Given the description of an element on the screen output the (x, y) to click on. 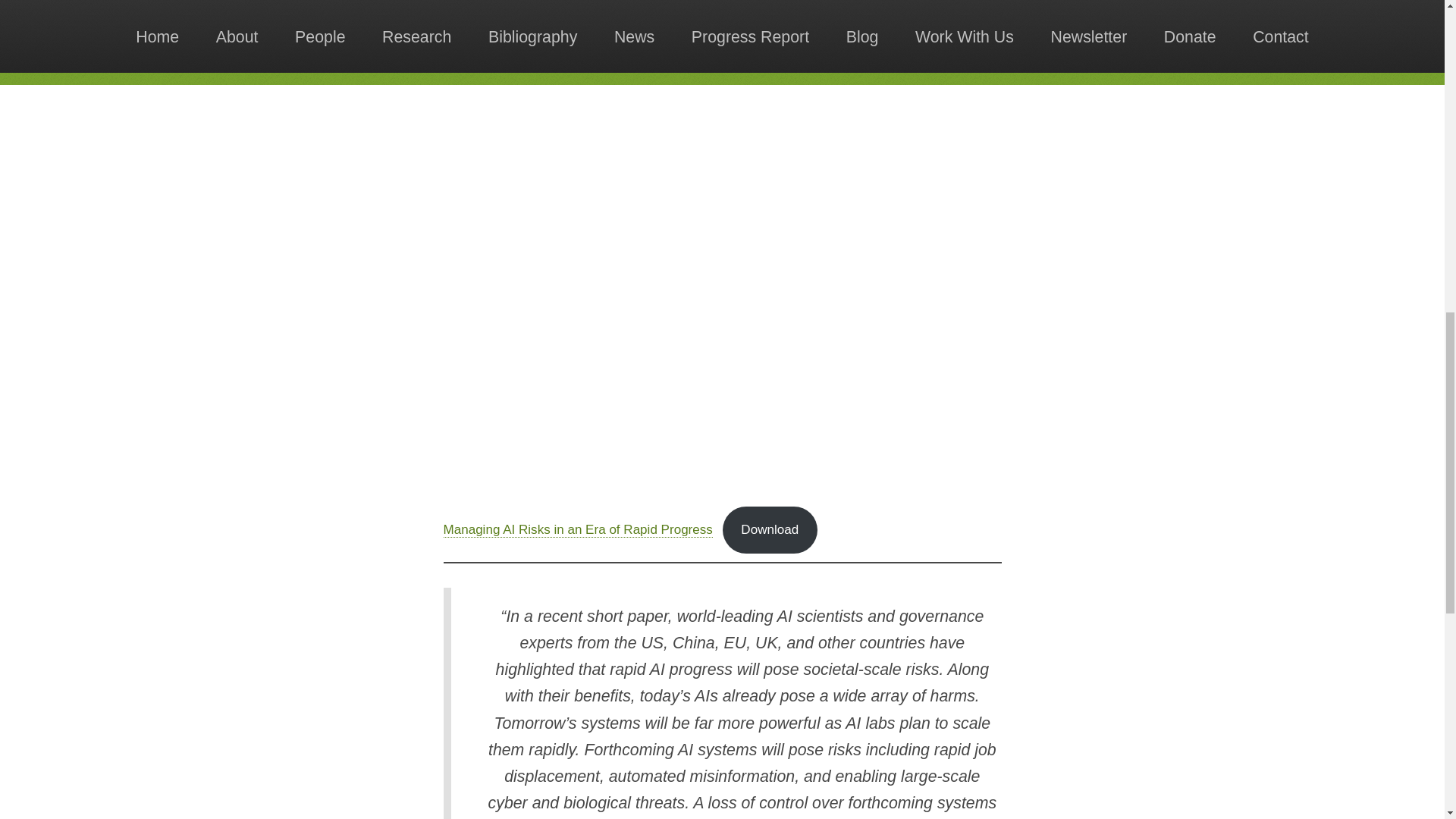
Download (769, 529)
Managing AI Risks in an Era of Rapid Progress (576, 529)
